Given the description of an element on the screen output the (x, y) to click on. 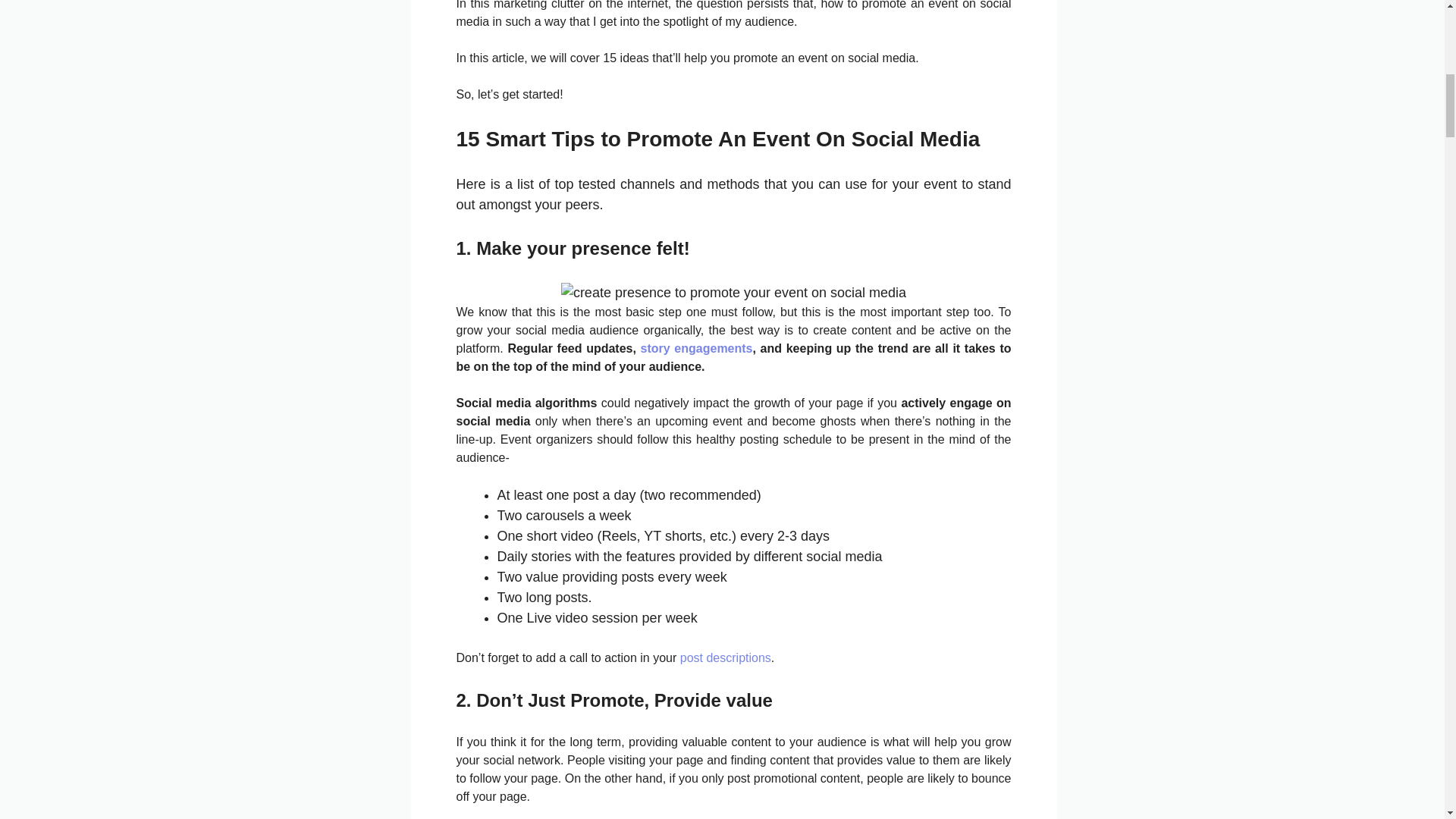
story engagements (696, 348)
Create social media presence (732, 292)
post descriptions (725, 657)
